Given the description of an element on the screen output the (x, y) to click on. 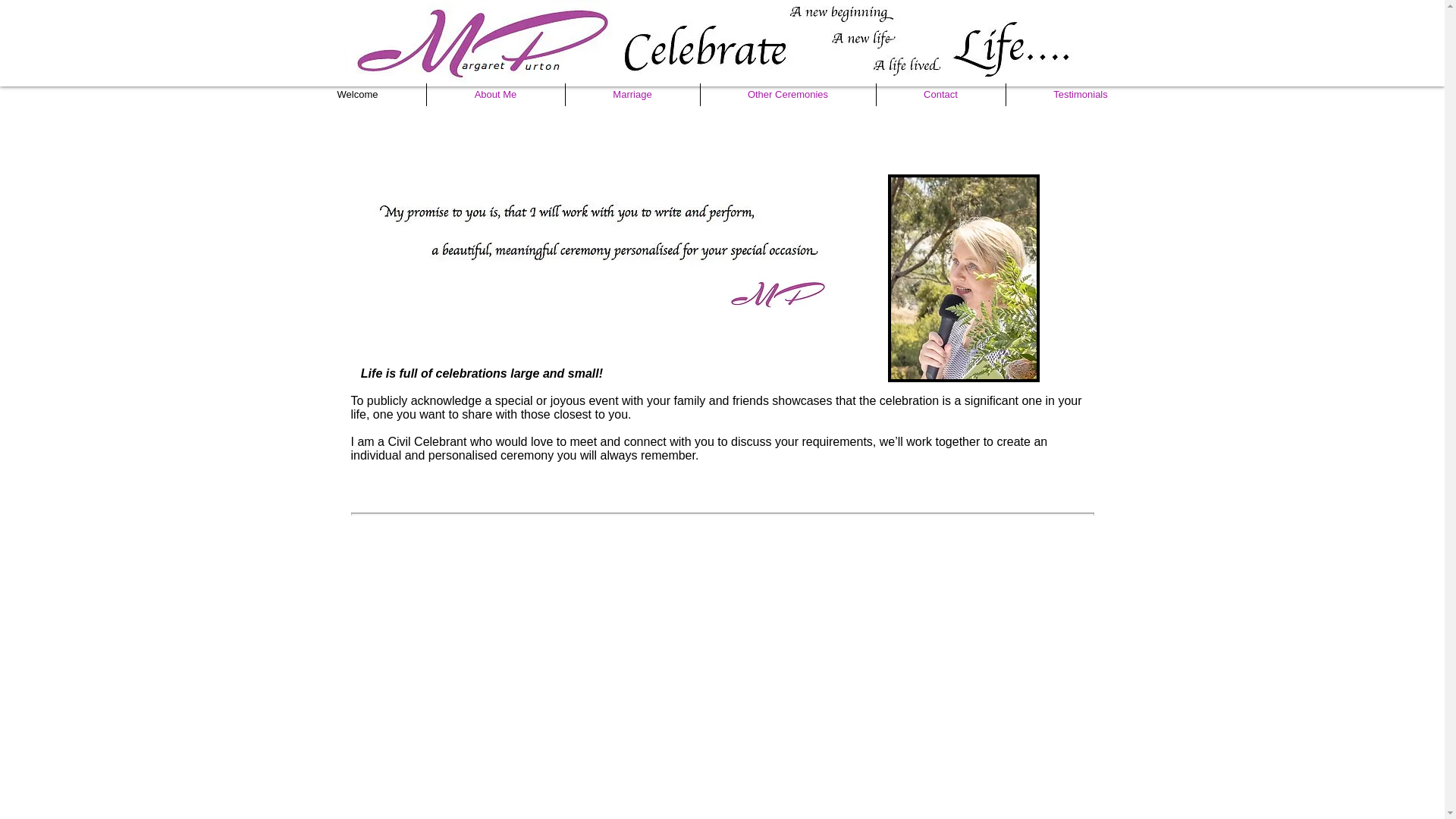
Marriage Element type: text (632, 94)
About Me Element type: text (495, 94)
Welcome Element type: text (357, 94)
Other Ceremonies Element type: text (787, 94)
Testimonials Element type: text (1079, 94)
Contact Element type: text (940, 94)
